Given the description of an element on the screen output the (x, y) to click on. 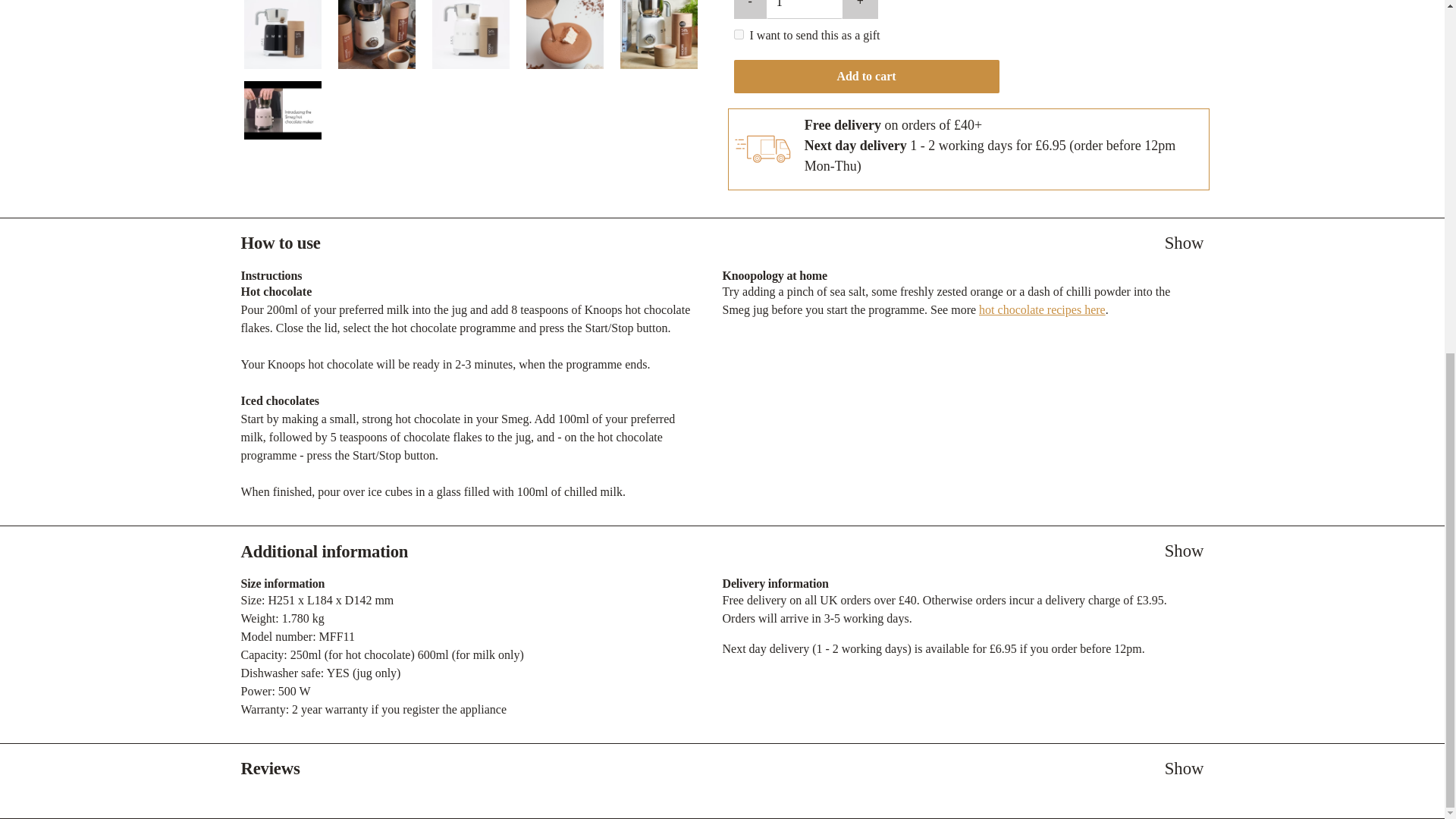
1 (805, 9)
on (738, 34)
